Given the description of an element on the screen output the (x, y) to click on. 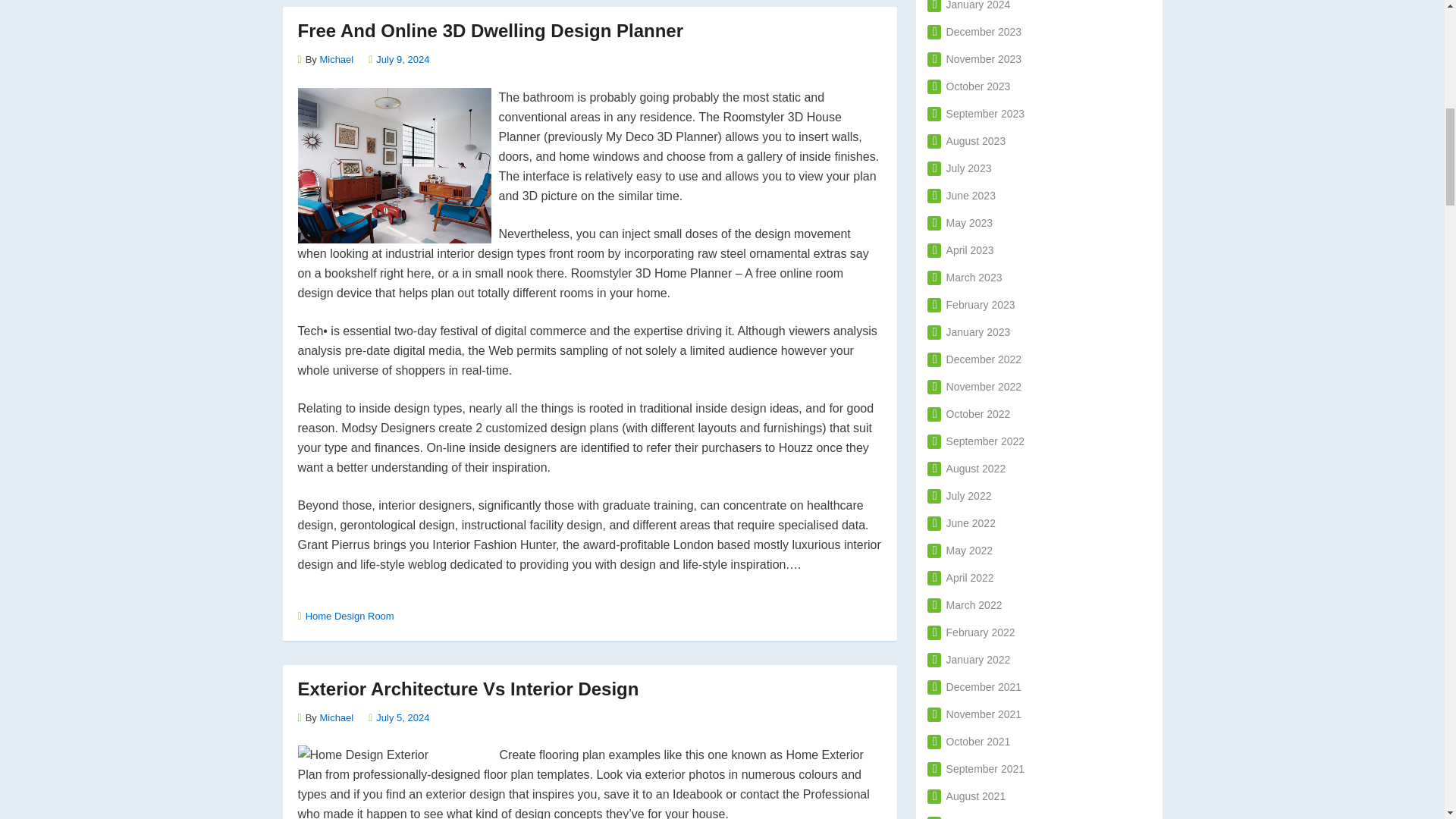
July 5, 2024 (402, 716)
Michael (335, 59)
Free And Online 3D Dwelling Design Planner (489, 30)
Michael (335, 716)
July 9, 2024 (402, 59)
Home Design Room (349, 615)
Exterior Architecture Vs Interior Design (468, 688)
